Given the description of an element on the screen output the (x, y) to click on. 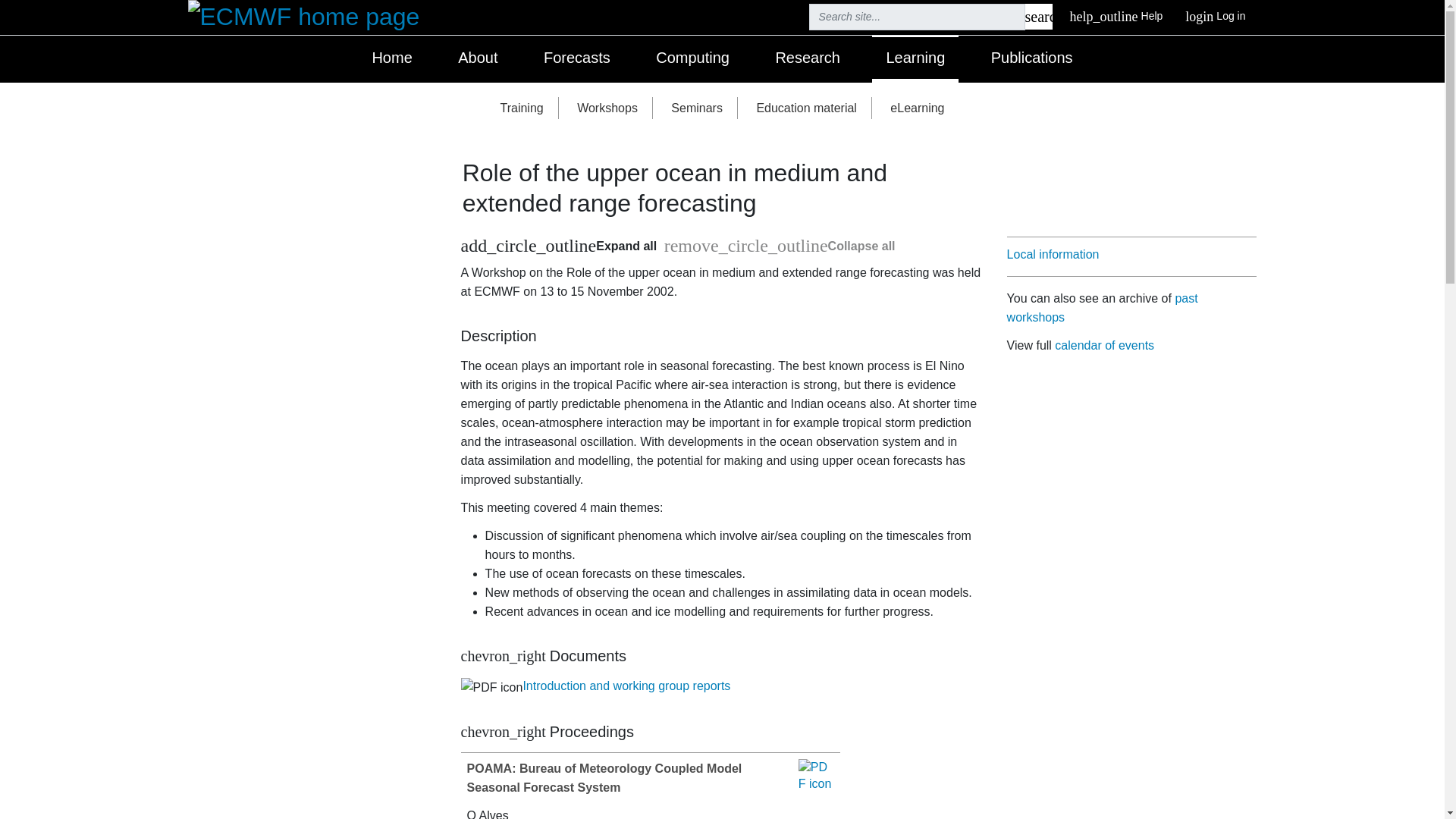
Local information (1053, 254)
Workshops (607, 107)
Seminars (697, 107)
Publications (1031, 59)
Training (520, 107)
Computing (692, 59)
Go (1038, 17)
About (477, 59)
Go (1038, 17)
Forecasts (576, 59)
Introduction and working group reports (626, 685)
Learning (915, 59)
Education material (806, 107)
eLearning (917, 107)
